Given the description of an element on the screen output the (x, y) to click on. 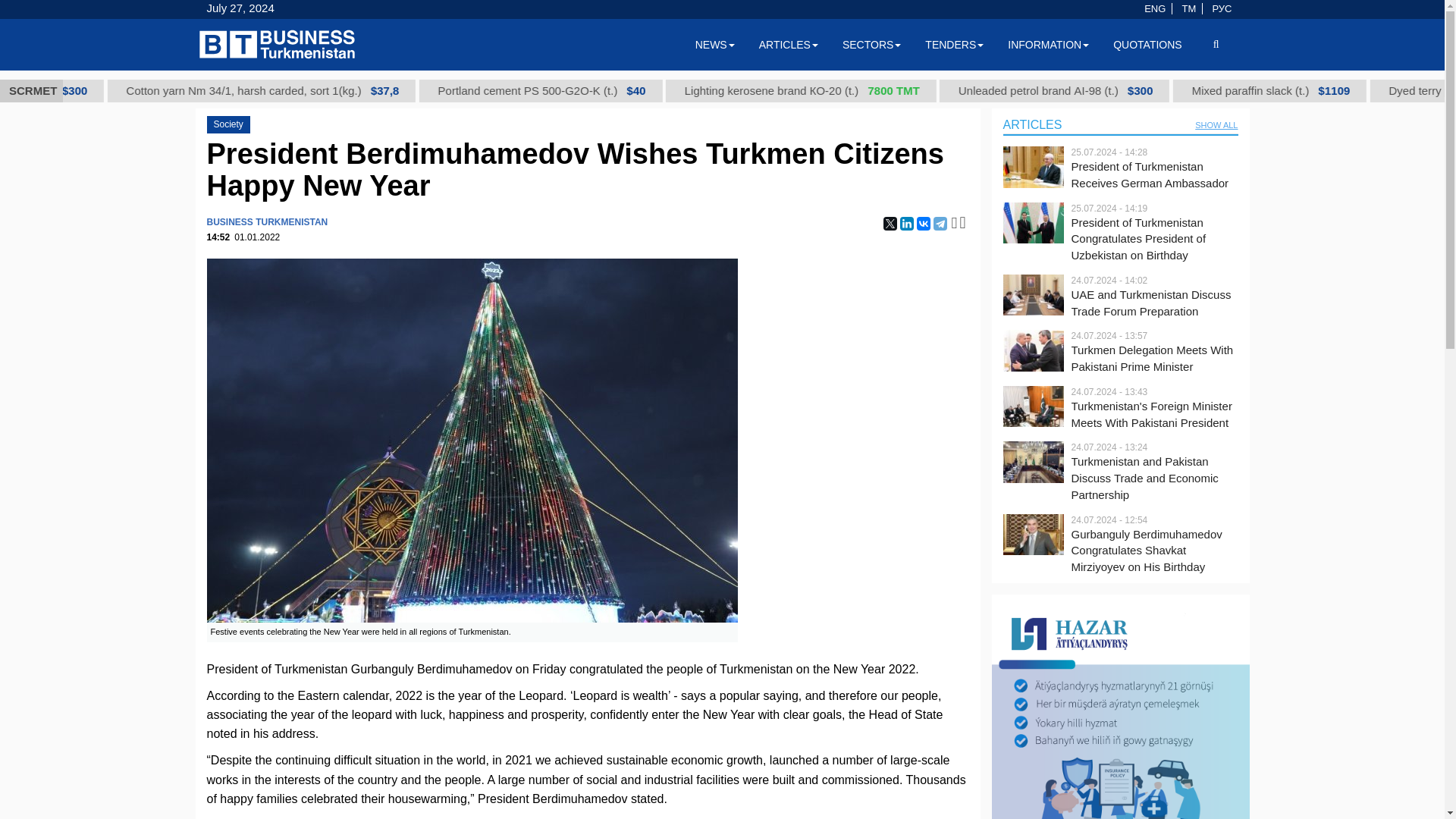
President of Turkmenistan Receives German Ambassador (1153, 174)
LinkedIn (906, 223)
Turkmen Delegation Meets With Pakistani Prime Minister (1153, 358)
Twitter (889, 223)
Society (227, 124)
Telegram (940, 223)
UAE and Turkmenistan Discuss Trade Forum Preparation (1153, 303)
VKontakte (923, 223)
